Given the description of an element on the screen output the (x, y) to click on. 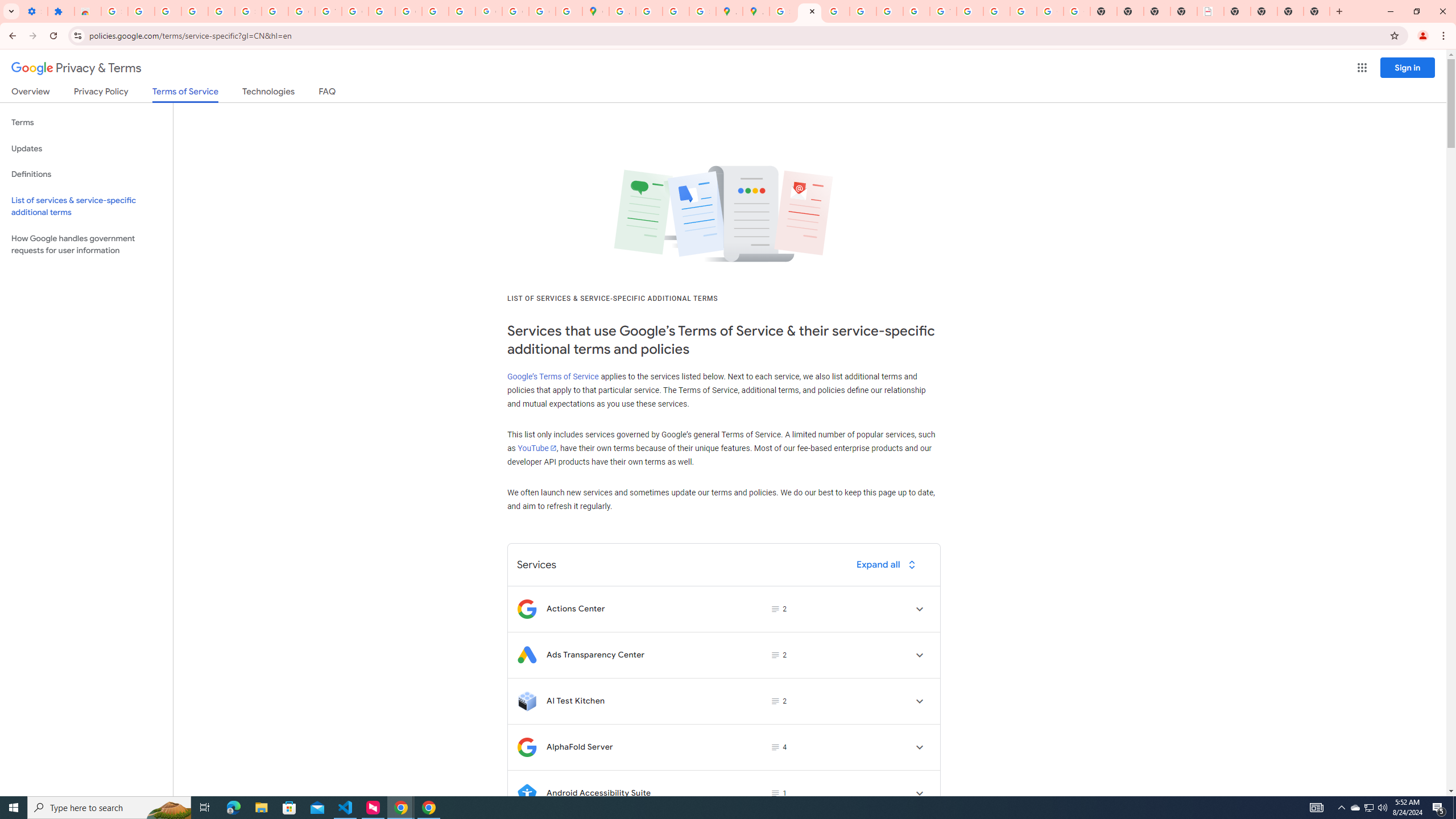
New Tab (1316, 11)
Logo for Android Accessibility Suite (526, 792)
Sign in - Google Accounts (248, 11)
Logo for AI Test Kitchen (526, 700)
